Given the description of an element on the screen output the (x, y) to click on. 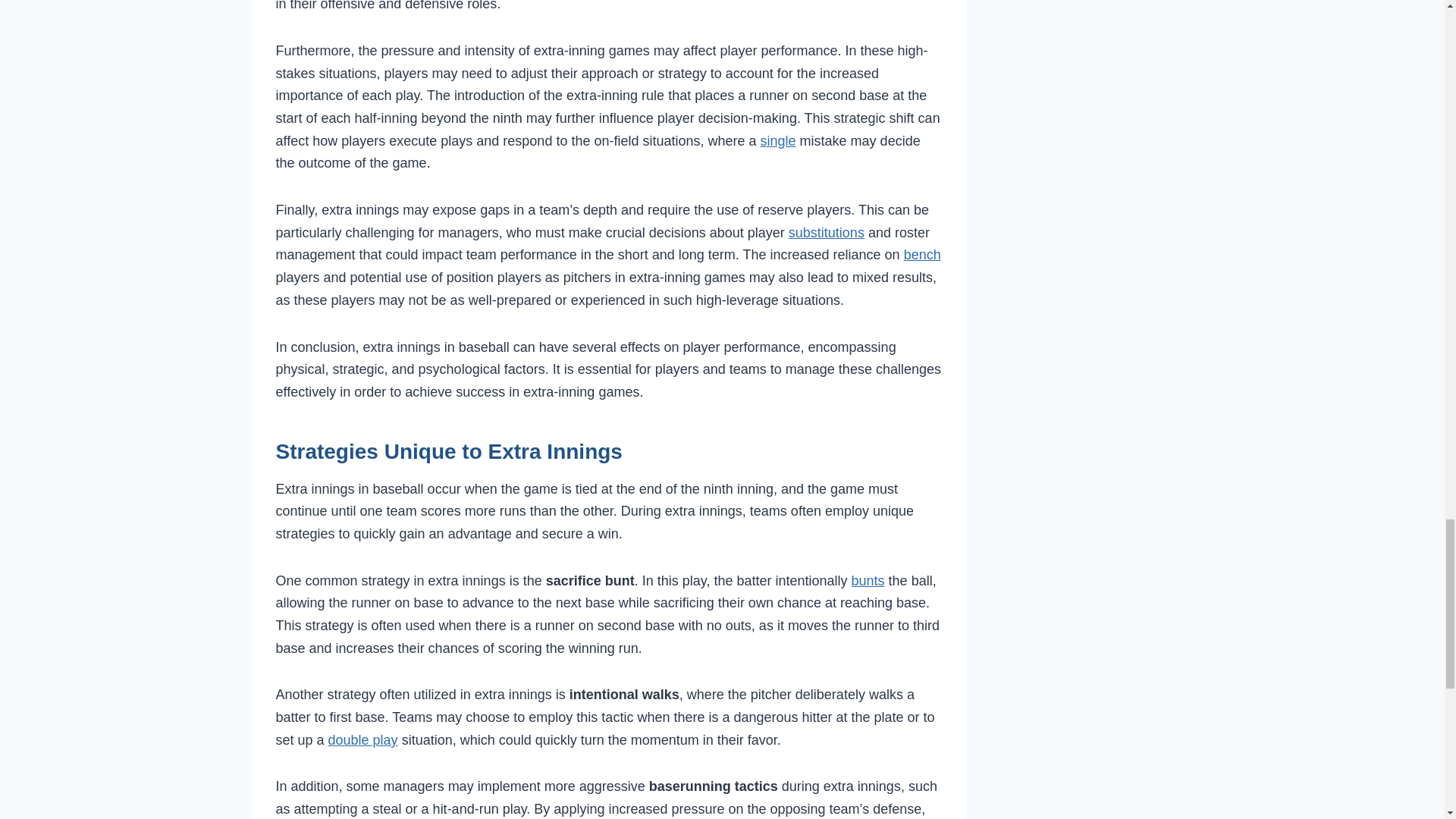
bunts (868, 580)
substitutions (826, 232)
double play (363, 739)
single (778, 140)
bench (922, 254)
